Given the description of an element on the screen output the (x, y) to click on. 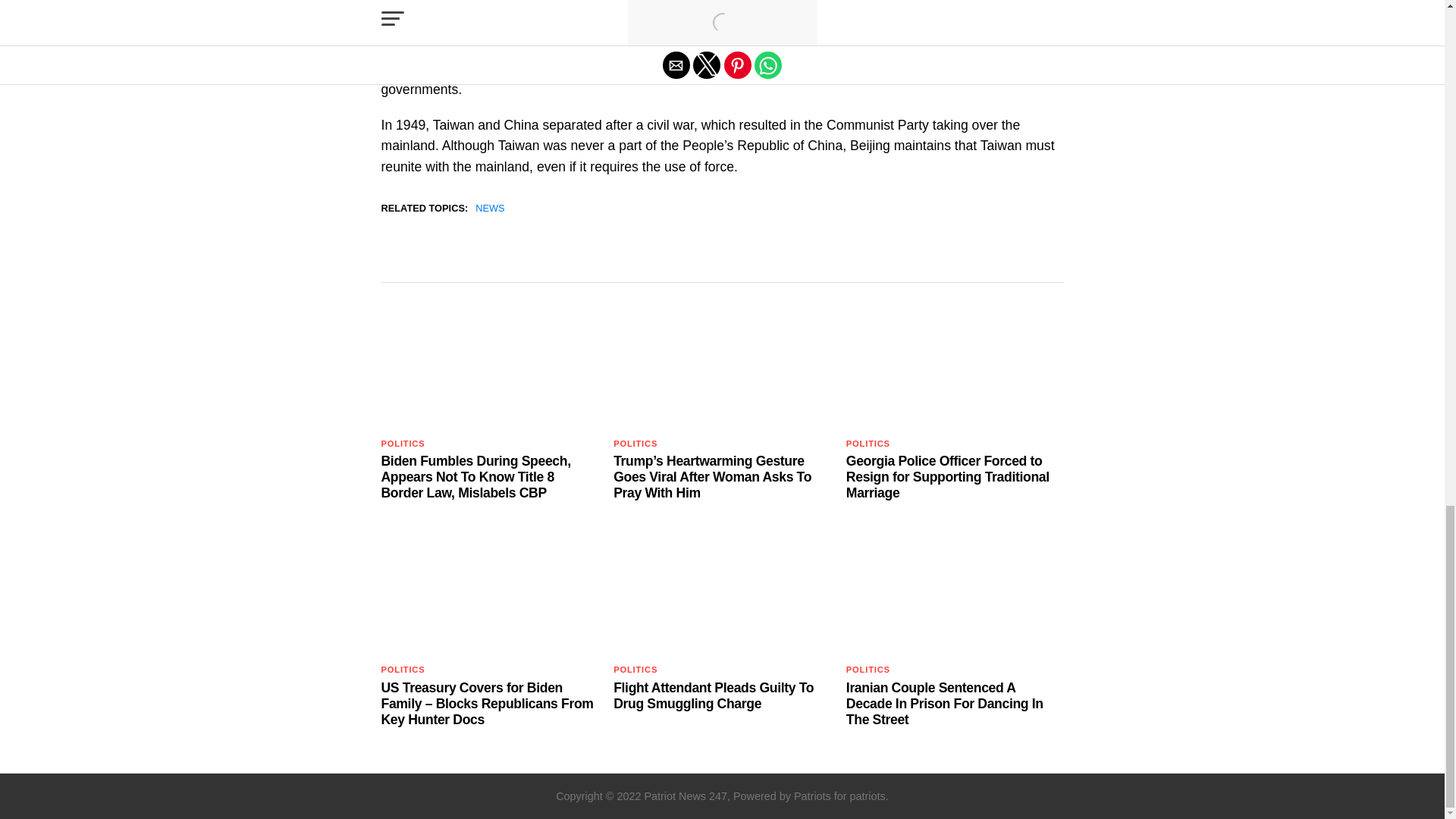
NEWS (489, 208)
